Given the description of an element on the screen output the (x, y) to click on. 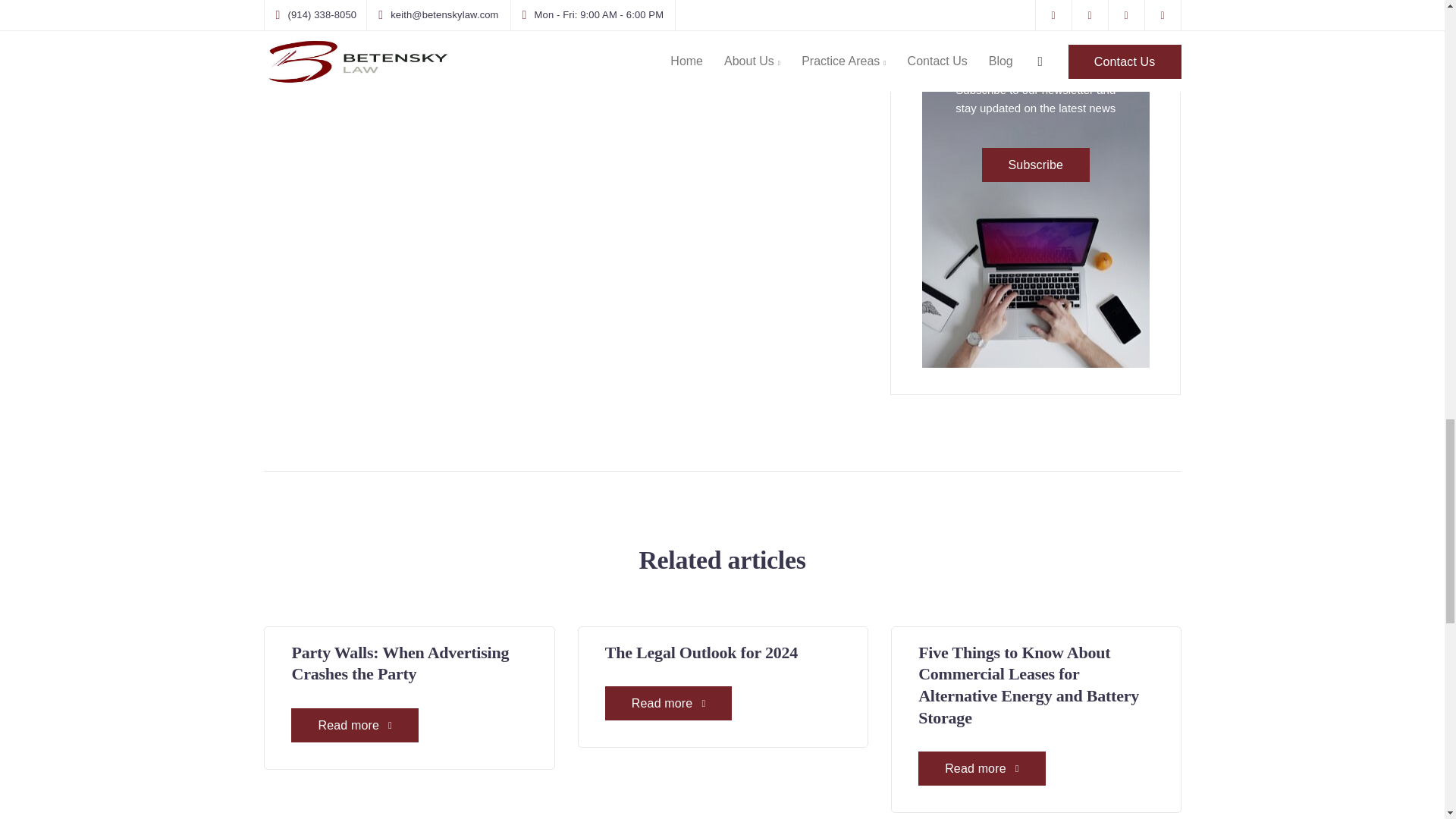
Party Walls: When Advertising Crashes the Party (399, 662)
The Legal Outlook for 2024 (701, 651)
